Given the description of an element on the screen output the (x, y) to click on. 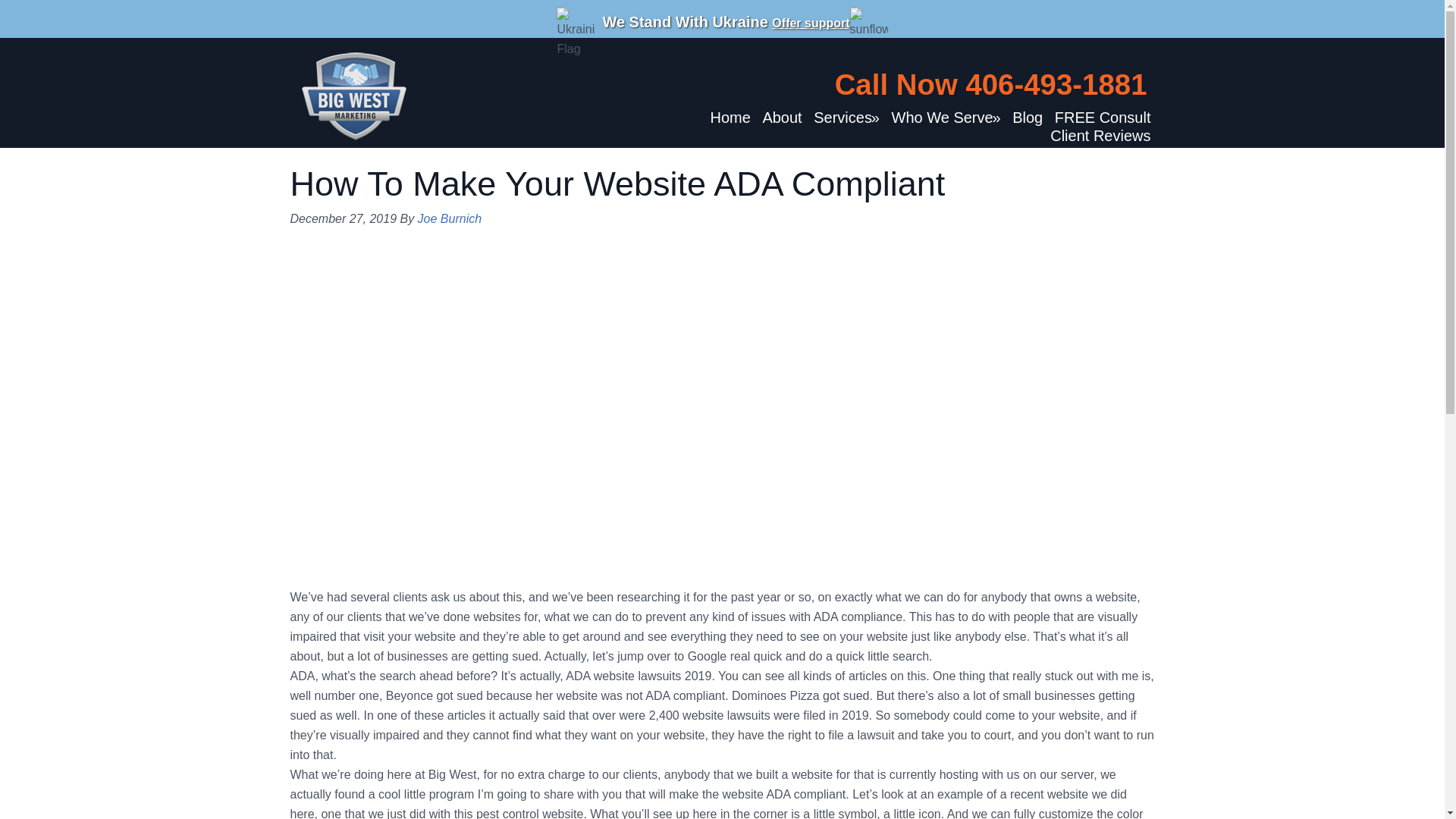
FREE Consult (1102, 117)
About (781, 117)
Offer support (809, 22)
Accessibility Tools (1424, 95)
Big West Marketing 406-493-1881 (353, 92)
Services (846, 117)
Who We Serve (945, 117)
Home (730, 117)
Blog (1027, 117)
Client Reviews (1100, 135)
